Given the description of an element on the screen output the (x, y) to click on. 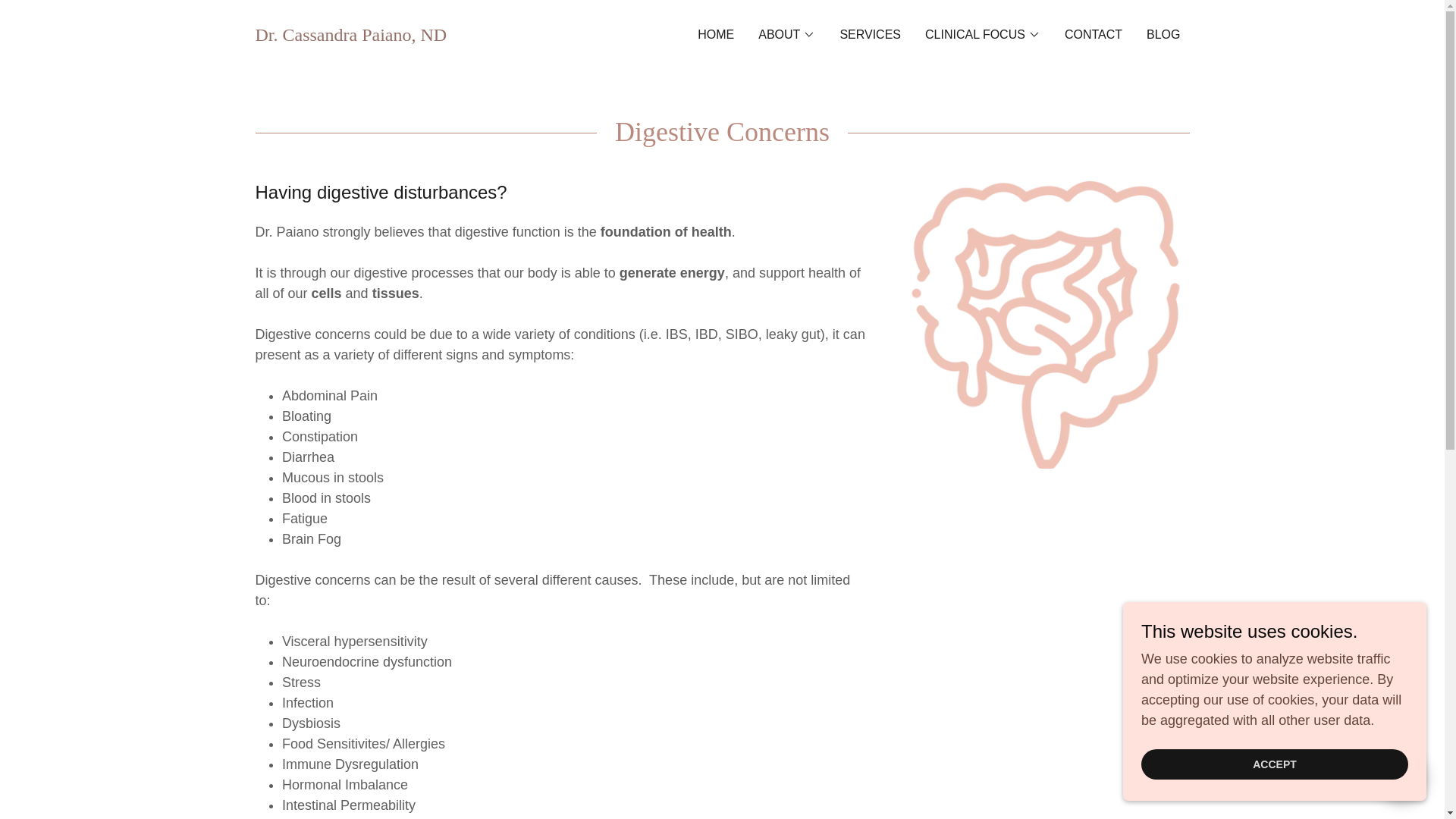
Dr. Cassandra Paiano, ND (350, 36)
BLOG (1163, 34)
Dr. Cassandra Paiano, ND (350, 36)
SERVICES (869, 34)
ABOUT (786, 34)
CLINICAL FOCUS (982, 34)
CONTACT (1092, 34)
HOME (715, 34)
